Given the description of an element on the screen output the (x, y) to click on. 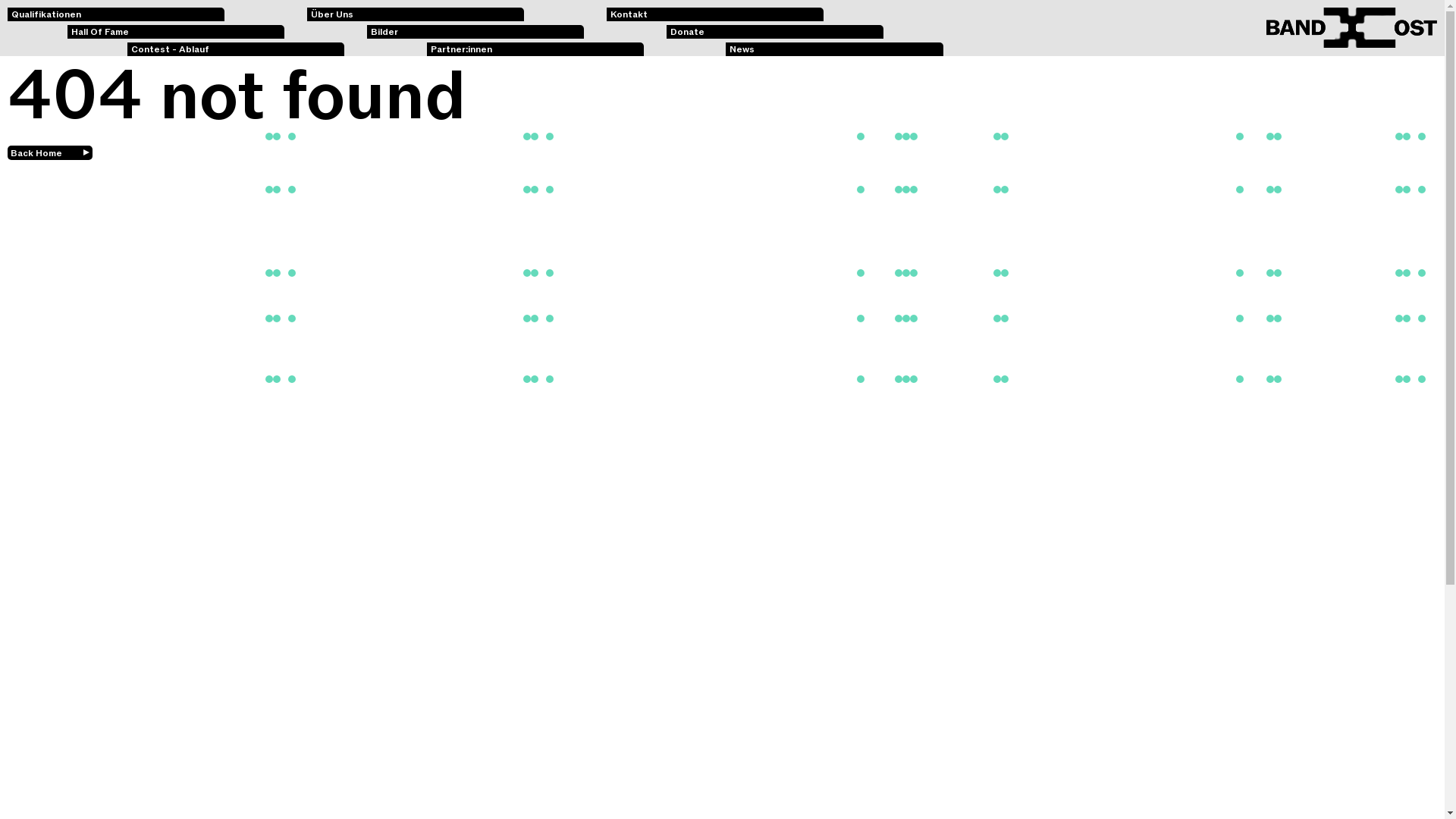
Kontakt Element type: text (714, 14)
Qualifikationen Element type: text (115, 14)
Facebook Element type: text (235, 769)
Bilder Element type: text (475, 31)
Partner:innen Element type: text (534, 49)
Hall Of Fame Element type: text (175, 31)
News Element type: text (833, 49)
Bandlager Element type: text (714, 804)
Vimeo Element type: text (534, 769)
Donate Element type: text (774, 31)
Back Home Element type: text (49, 152)
Contest - Ablauf Element type: text (235, 49)
Impressum Element type: text (175, 786)
Youtube Element type: text (475, 786)
Instagram Element type: text (415, 804)
